Given the description of an element on the screen output the (x, y) to click on. 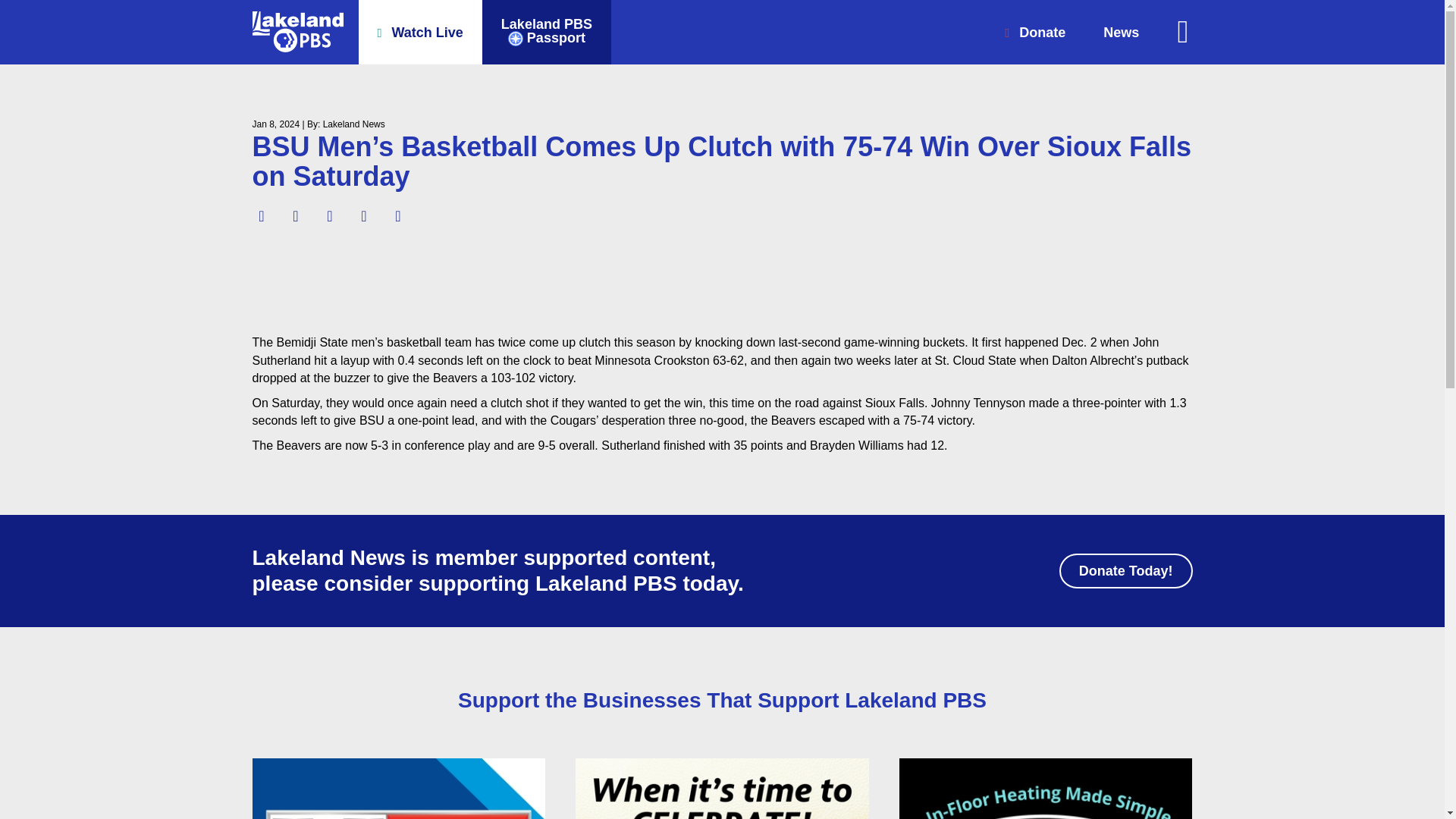
Donate Today! (1125, 570)
News (1120, 32)
Donate (1034, 32)
Watch Live (546, 32)
